Given the description of an element on the screen output the (x, y) to click on. 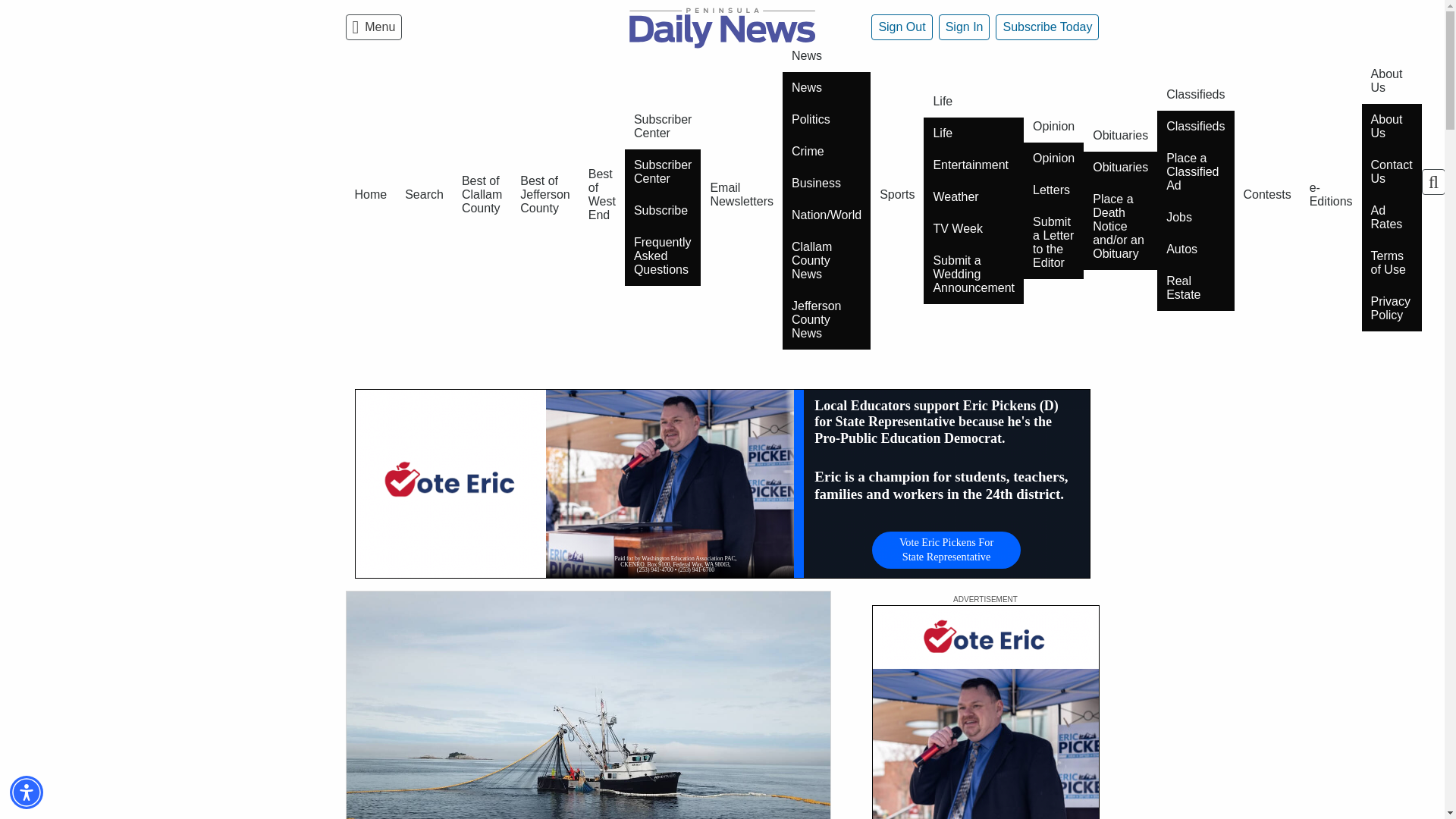
Accessibility Menu (26, 792)
3rd party ad content (985, 712)
